Given the description of an element on the screen output the (x, y) to click on. 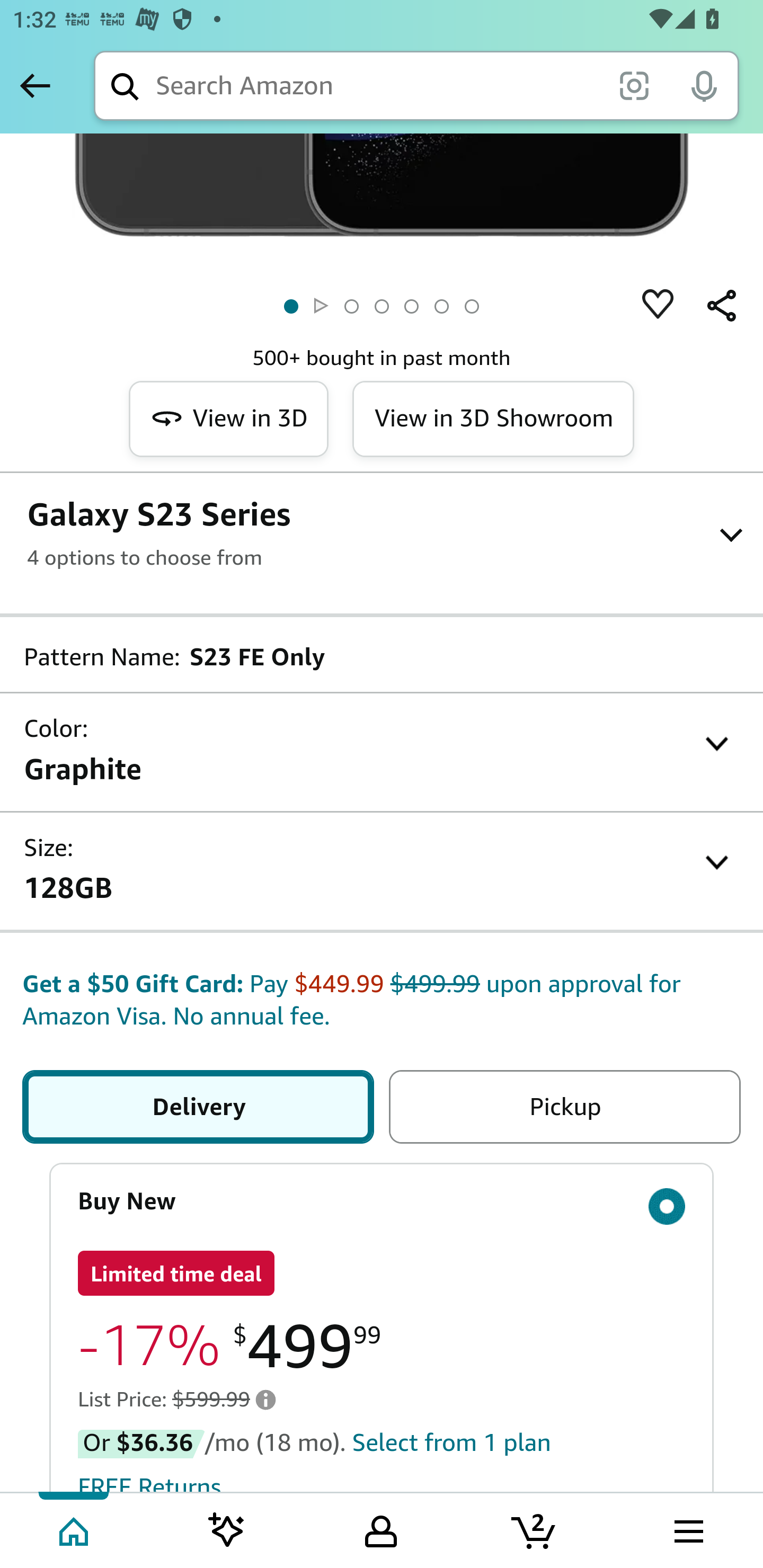
Back (35, 85)
scan it (633, 85)
Heart to save an item to your default list (657, 305)
View in 3D view360._CB586229963_ View in 3D (228, 418)
View in 3D Showroom (492, 418)
Galaxy S23 Series 4 options to choose from (381, 531)
Delivery (198, 1106)
Pickup (564, 1106)
Buy New (381, 1200)
Learn more about Amazon pricing and savings (265, 1399)
Select from 1 plan (450, 1441)
Home Tab 1 of 5 (75, 1529)
Inspire feed Tab 2 of 5 (227, 1529)
Your Amazon.com Tab 3 of 5 (380, 1529)
Cart 2 items Tab 4 of 5 2 (534, 1529)
Browse menu Tab 5 of 5 (687, 1529)
